Given the description of an element on the screen output the (x, y) to click on. 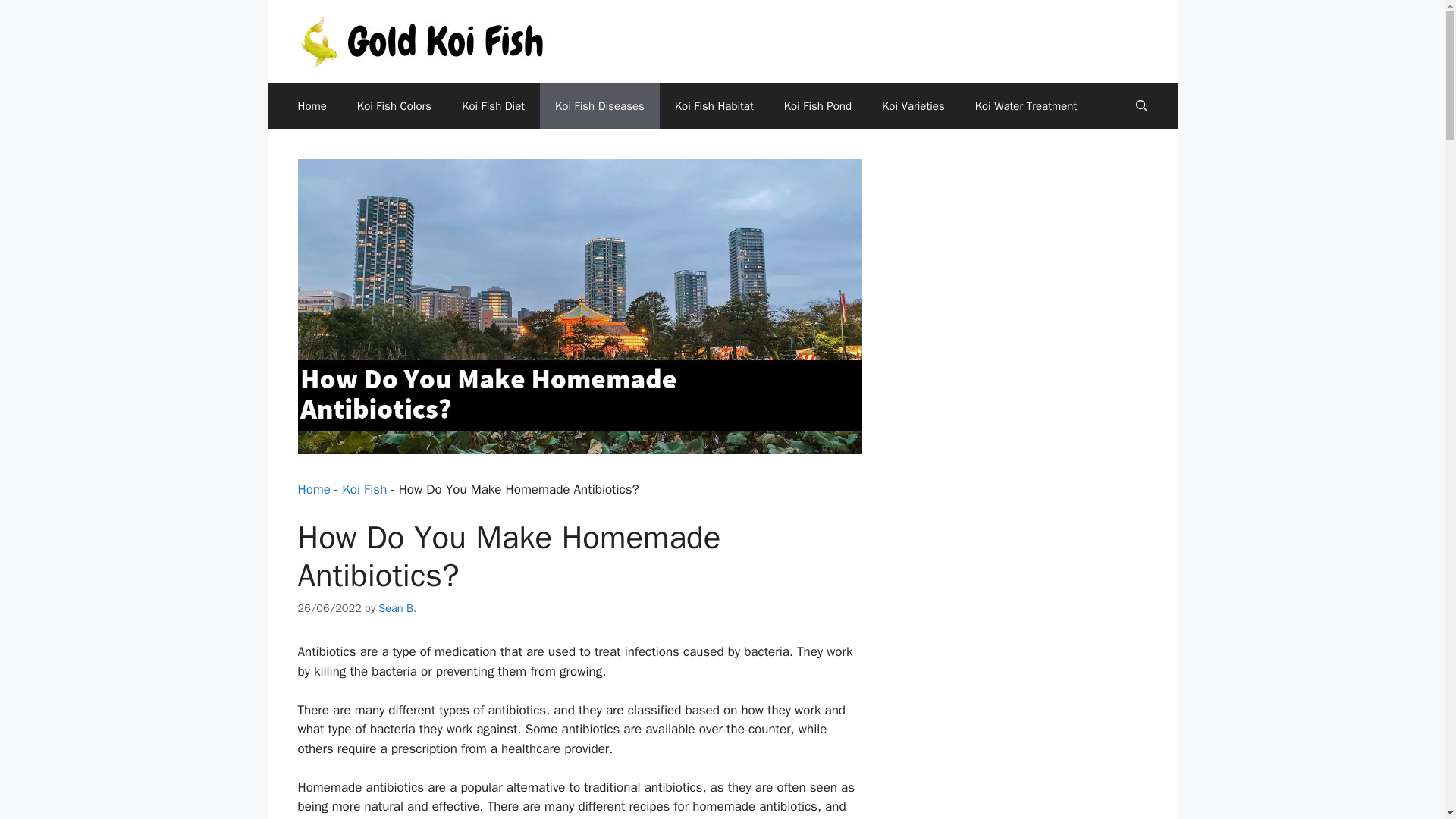
Koi Fish Habitat (713, 105)
Koi Fish Diet (493, 105)
Sean B. (397, 608)
Koi Fish Diseases (599, 105)
Home (311, 105)
Home (313, 489)
Koi Fish Colors (394, 105)
Koi Varieties (912, 105)
View all posts by Sean B. (397, 608)
Koi Fish (364, 489)
Koi Water Treatment (1026, 105)
Koi Fish Pond (817, 105)
